Given the description of an element on the screen output the (x, y) to click on. 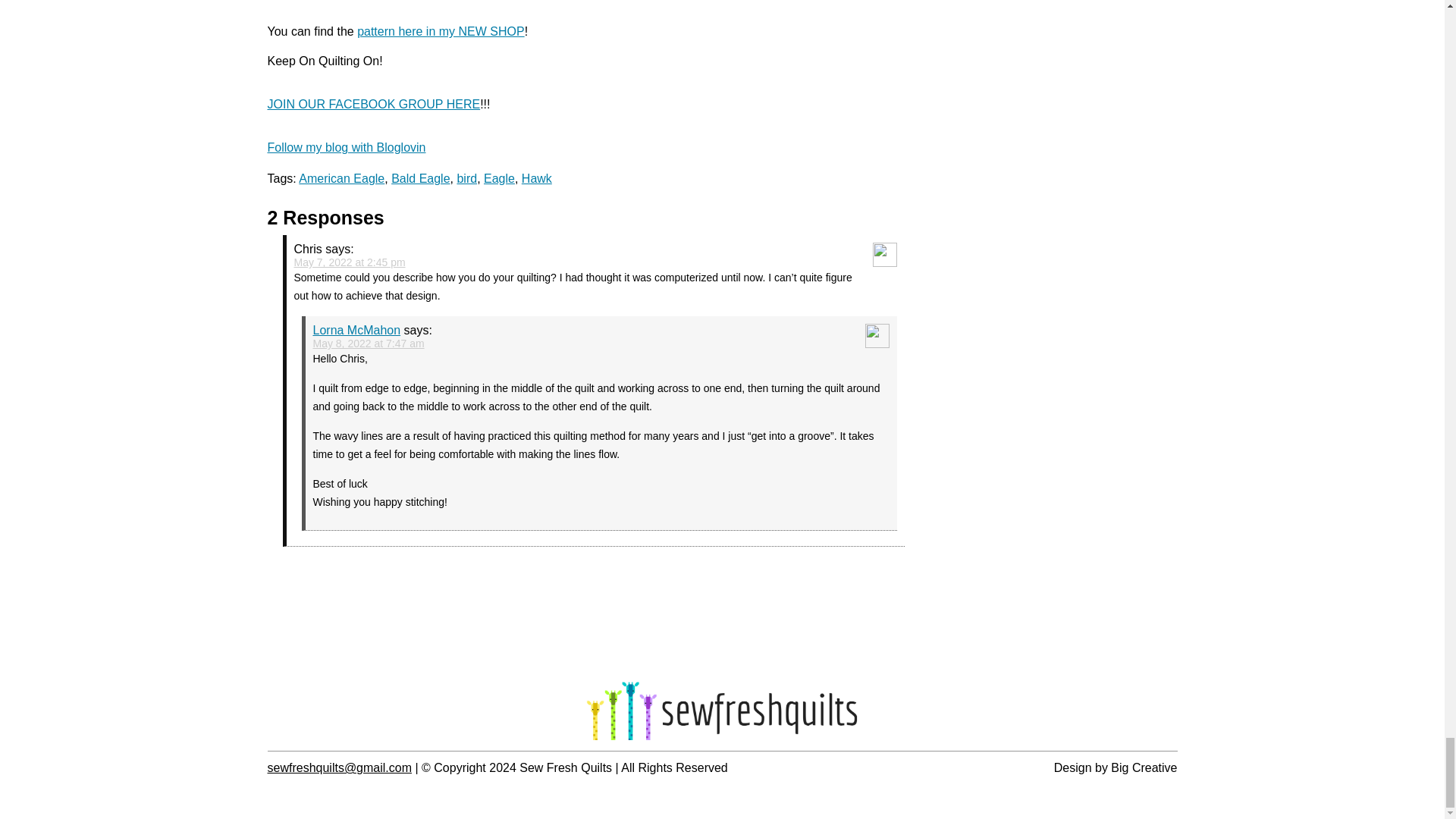
Eagle (499, 178)
bird (467, 178)
American Eagle (341, 178)
May 7, 2022 at 2:45 pm (350, 262)
JOIN OUR FACEBOOK GROUP HERE (373, 103)
Follow my blog with Bloglovin (345, 146)
Hawk (536, 178)
pattern here in my NEW SHOP (440, 31)
Lorna McMahon (356, 329)
May 8, 2022 at 7:47 am (368, 343)
